Given the description of an element on the screen output the (x, y) to click on. 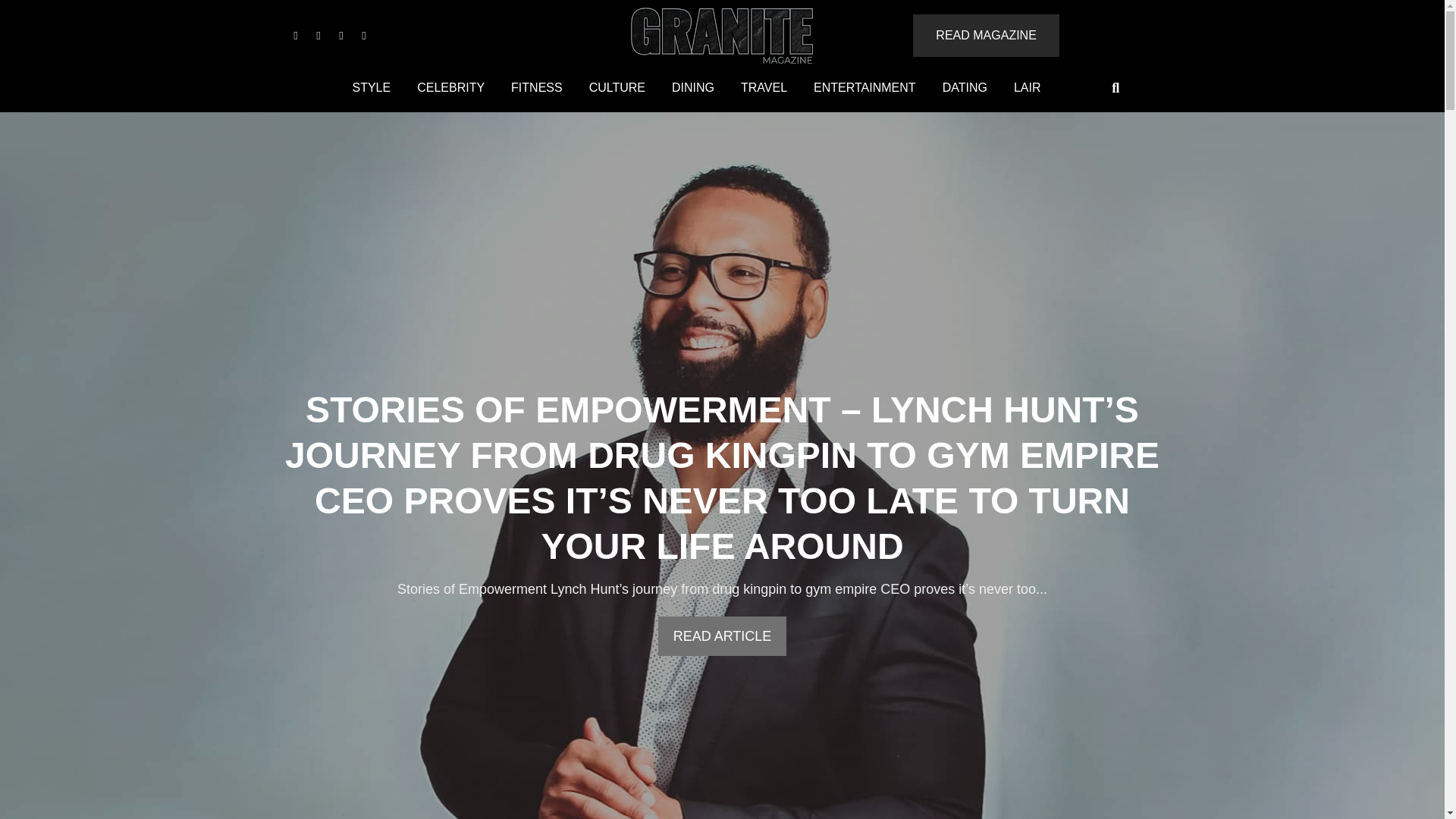
TRAVEL (763, 87)
DATING (964, 87)
LAIR (1027, 87)
ENTERTAINMENT (864, 87)
CELEBRITY (451, 87)
CULTURE (617, 87)
FITNESS (536, 87)
DINING (693, 87)
STYLE (370, 87)
READ MAGAZINE (985, 35)
